Given the description of an element on the screen output the (x, y) to click on. 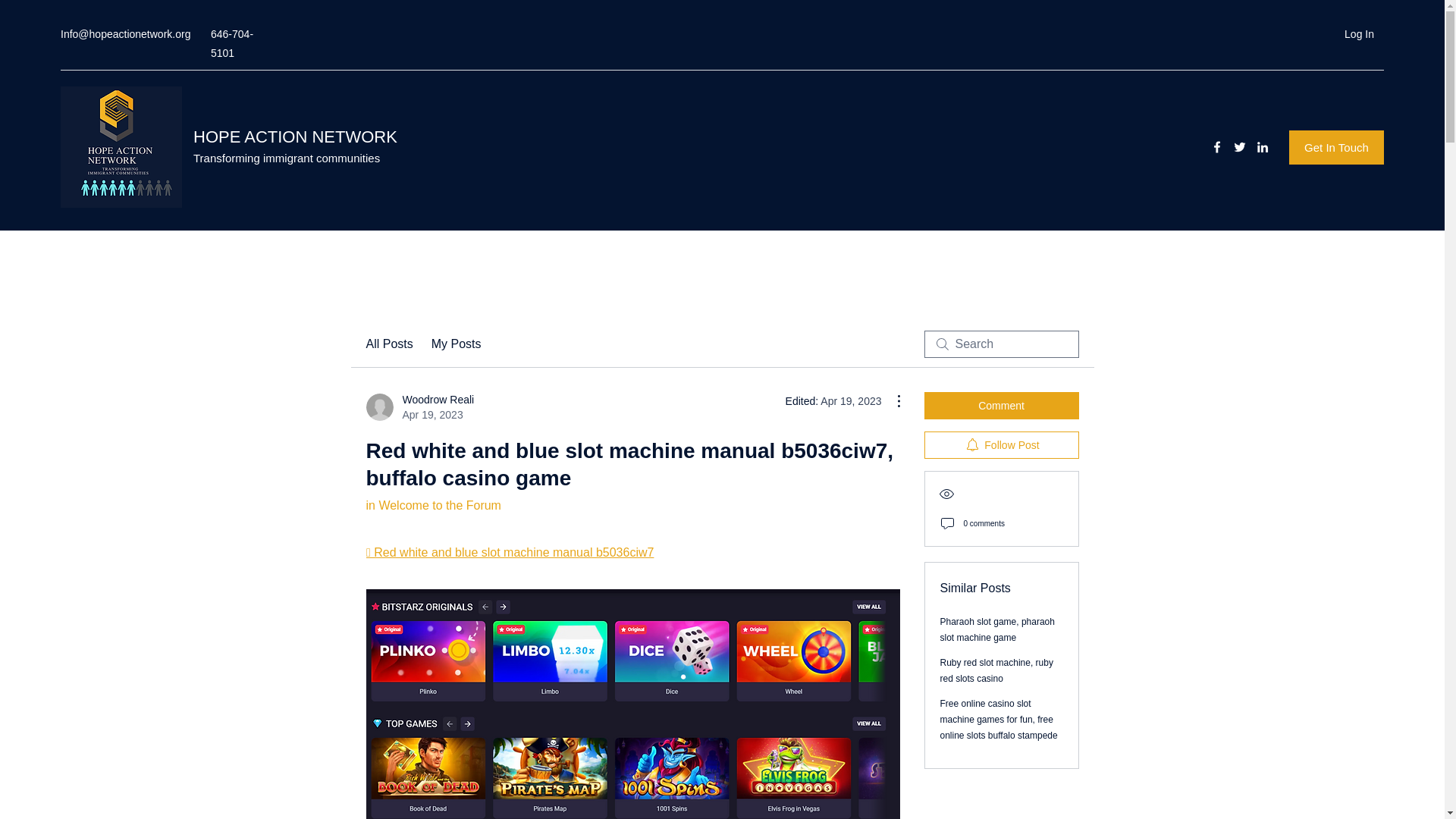
HOPE ACTION NETWORK (295, 136)
All Posts (388, 343)
Get In Touch (1336, 147)
in Welcome to the Forum (419, 407)
Log In (432, 504)
Follow Post (1358, 34)
Ruby red slot machine, ruby red slots casino (1000, 444)
Pharaoh slot game, pharaoh slot machine game (996, 670)
My Posts (997, 629)
Comment (455, 343)
